Given the description of an element on the screen output the (x, y) to click on. 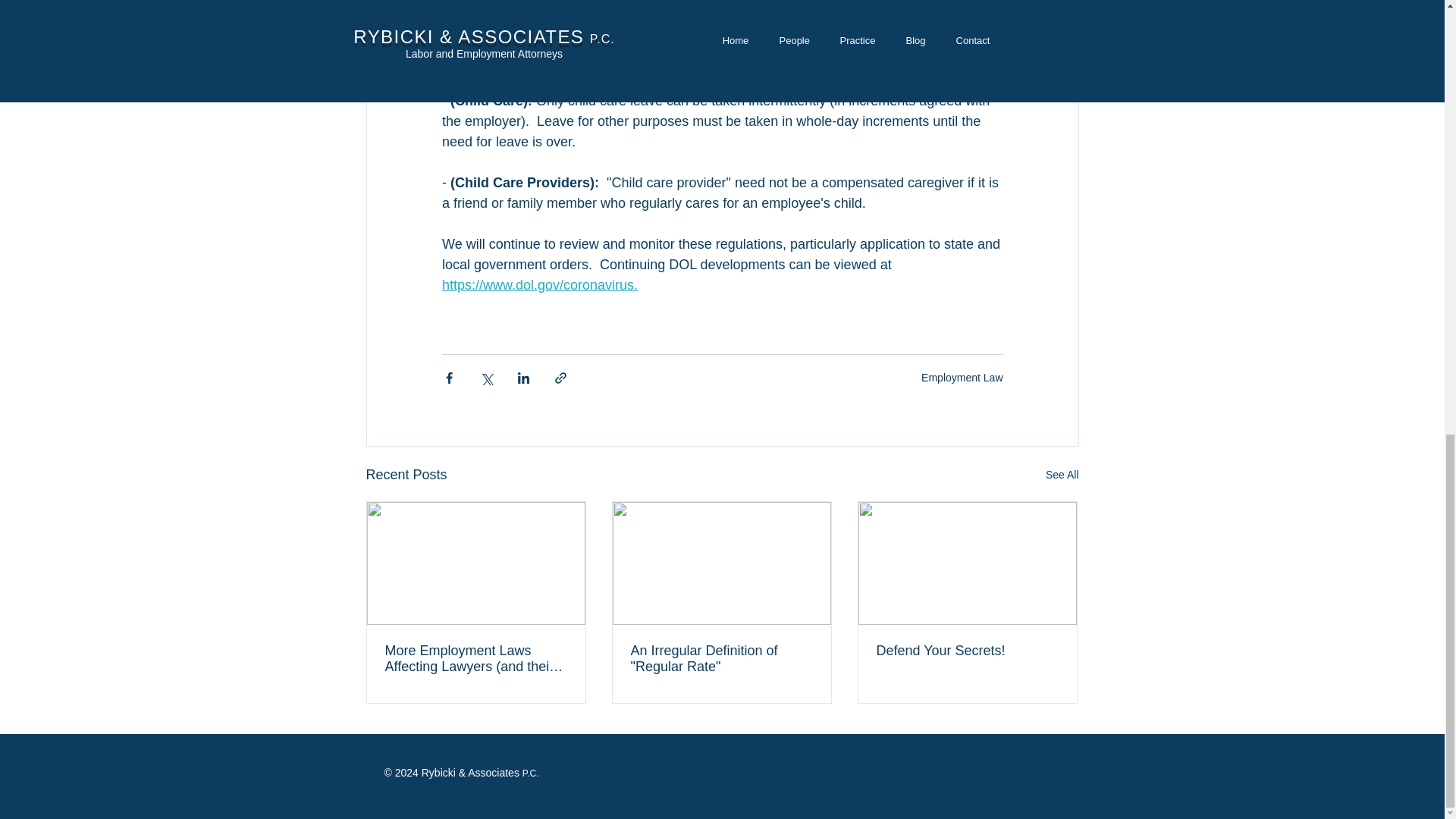
Employment Law (962, 377)
Defend Your Secrets! (967, 650)
An Irregular Definition of "Regular Rate" (721, 658)
See All (1061, 475)
